Given the description of an element on the screen output the (x, y) to click on. 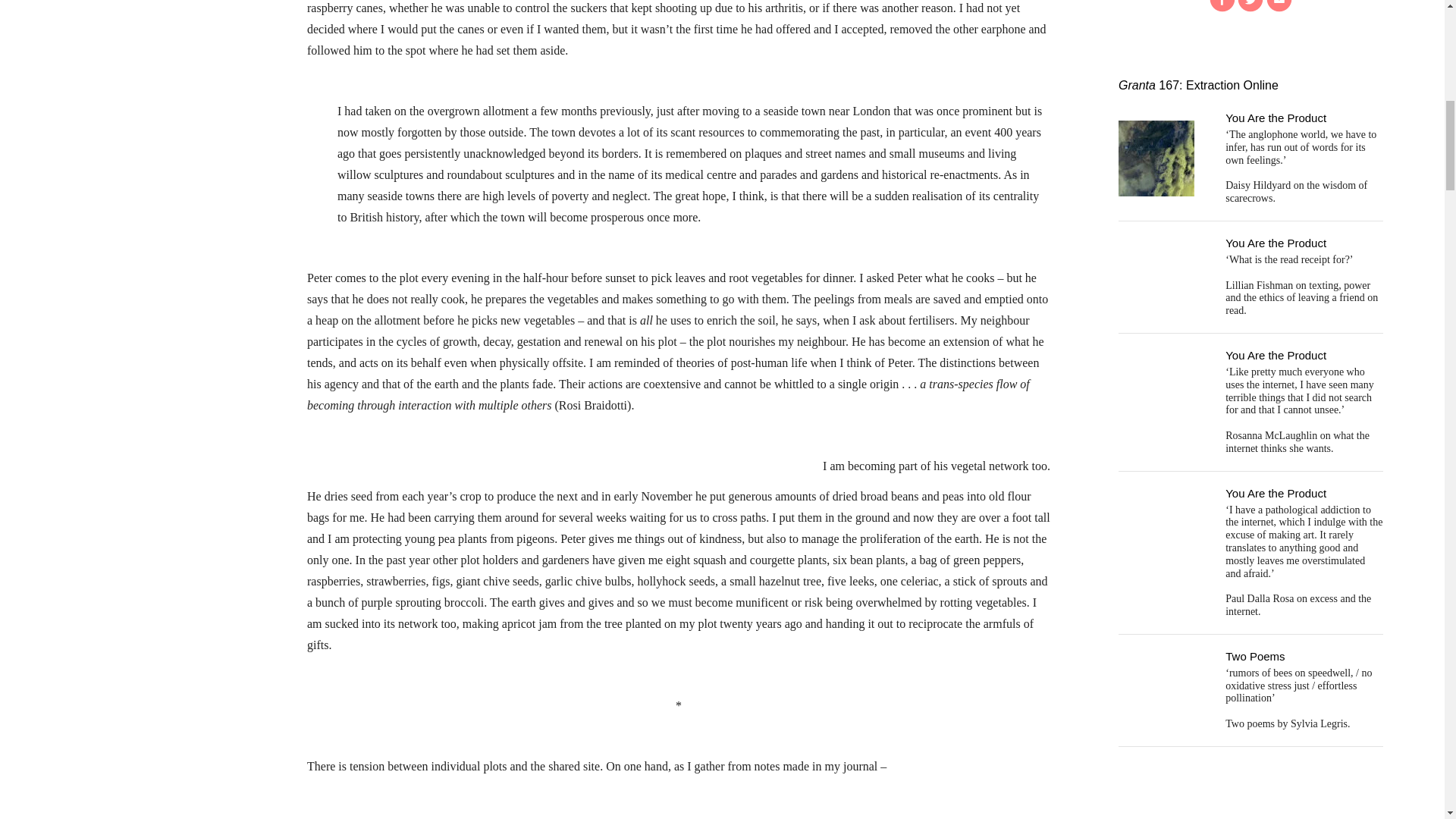
mail-with-circle Created with Sketch. (1279, 6)
facebook-with-circle Created with Sketch. (1221, 6)
twitter-with-circle Created with Sketch. (1250, 6)
